Given the description of an element on the screen output the (x, y) to click on. 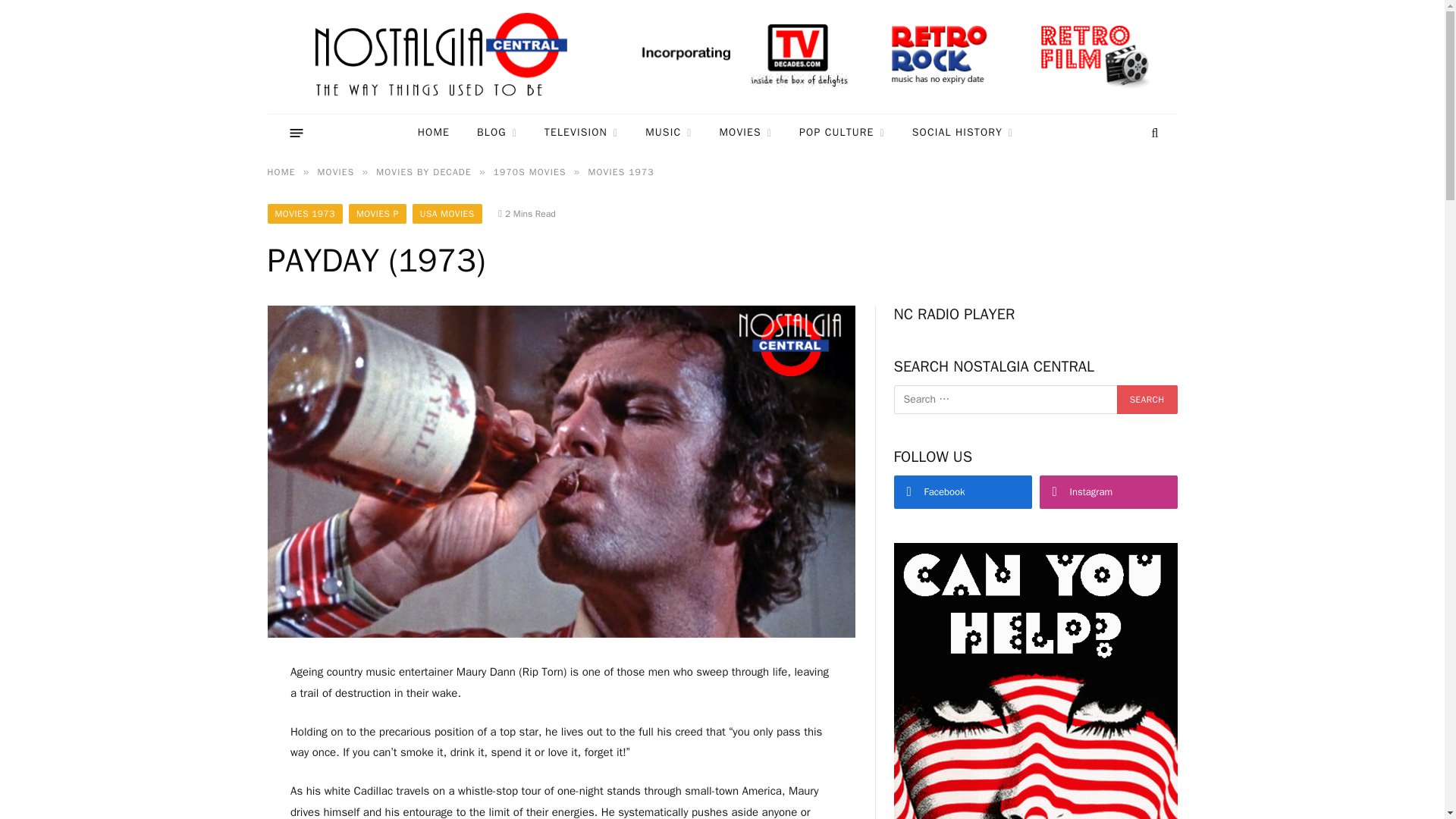
Search (1146, 399)
TELEVISION (581, 132)
Nostalgia Central (444, 56)
BLOG (497, 132)
HOME (433, 132)
Search (1146, 399)
